Given the description of an element on the screen output the (x, y) to click on. 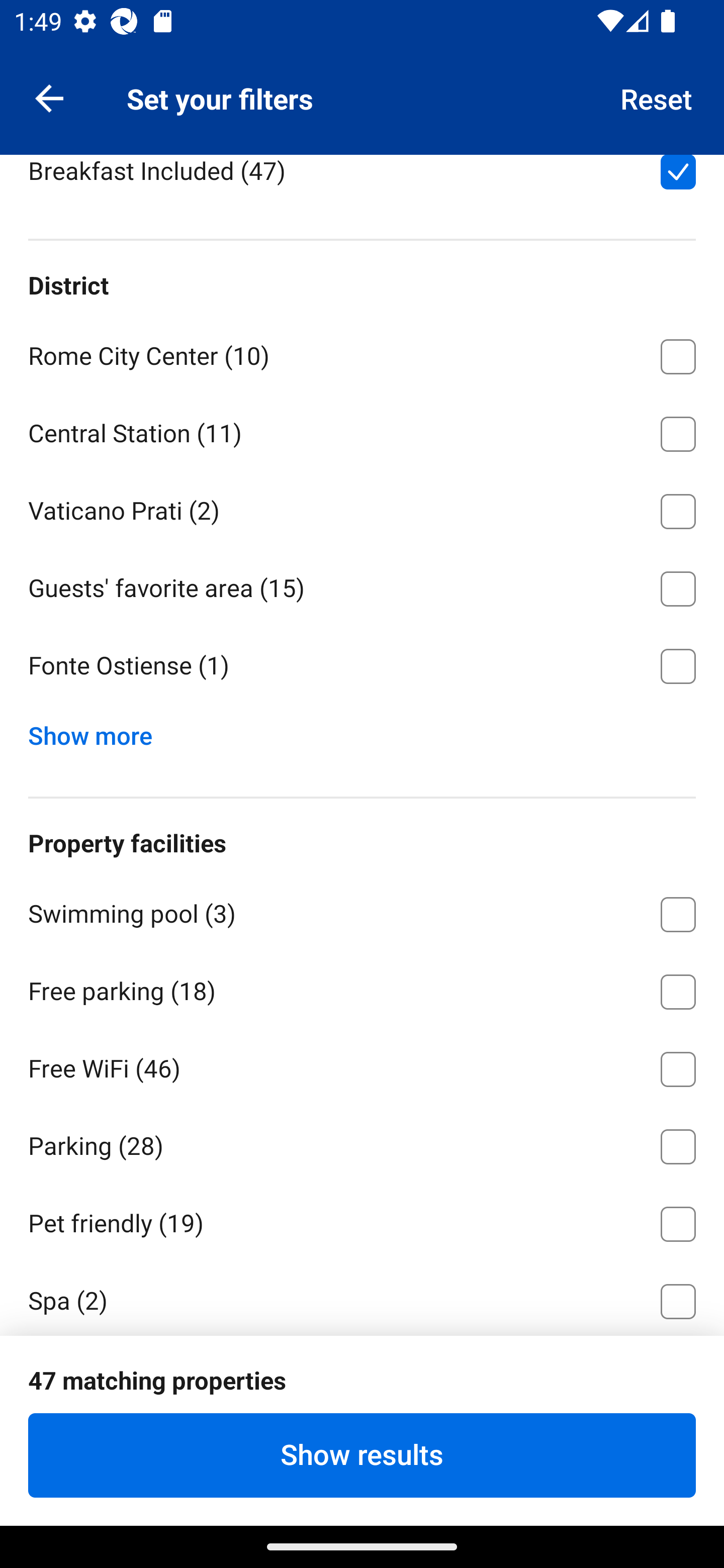
Navigate up (49, 97)
Reset (656, 97)
Breakfast Included ⁦(47) (361, 182)
Rome City Center ⁦(10) (361, 353)
Central Station ⁦(11) (361, 430)
Vaticano Prati ⁦(2) (361, 507)
Guests' favorite area ⁦(15) (361, 585)
Fonte Ostiense ⁦(1) (361, 666)
Show more (97, 731)
Swimming pool ⁦(3) (361, 910)
Free parking ⁦(18) (361, 988)
Free WiFi ⁦(46) (361, 1065)
Parking ⁦(28) (361, 1142)
Pet friendly ⁦(19) (361, 1220)
Spa ⁦(2) (361, 1297)
Fitness center ⁦(6) (361, 1375)
Show results (361, 1454)
